Given the description of an element on the screen output the (x, y) to click on. 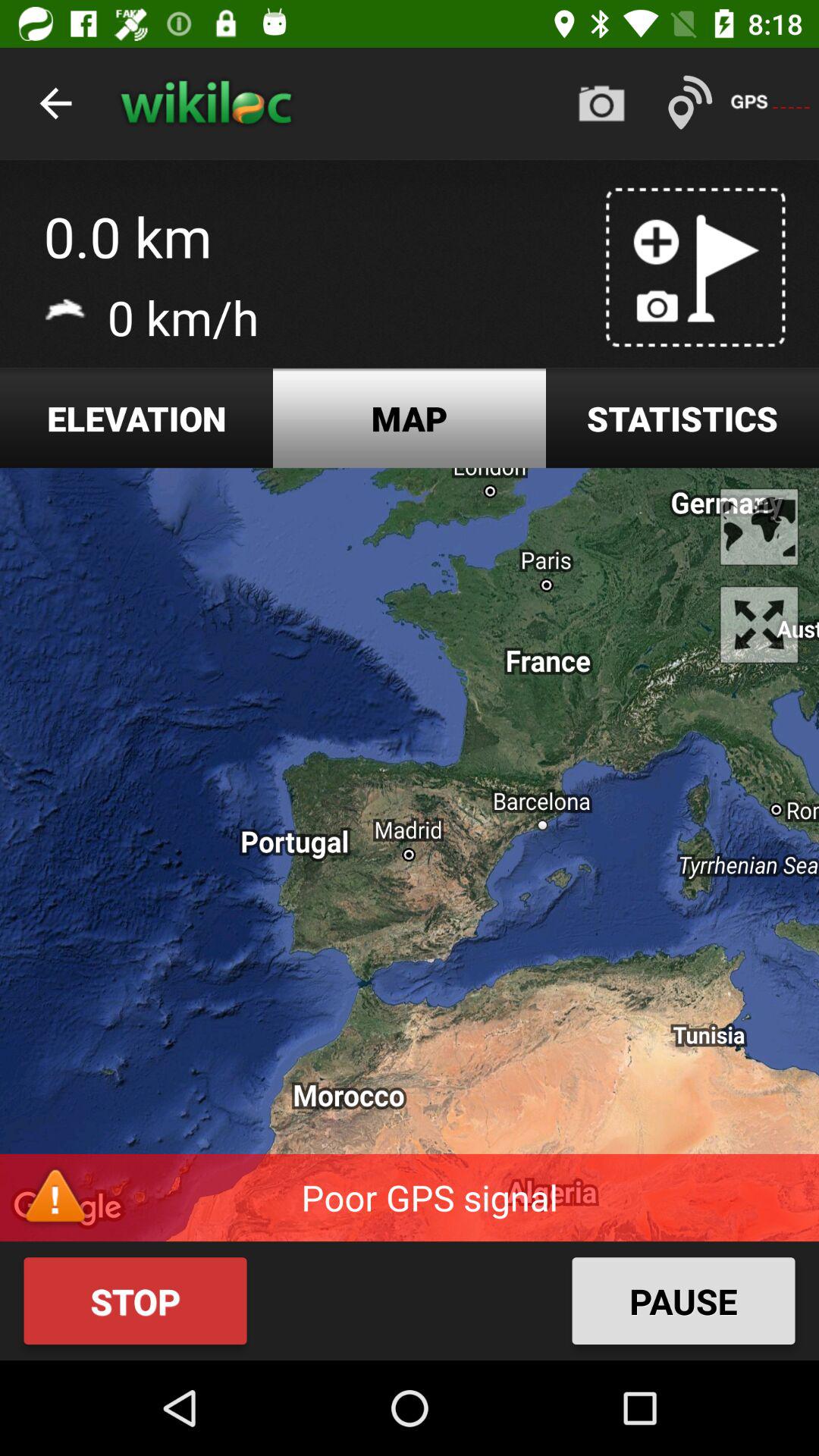
turn off icon above stop (409, 854)
